Given the description of an element on the screen output the (x, y) to click on. 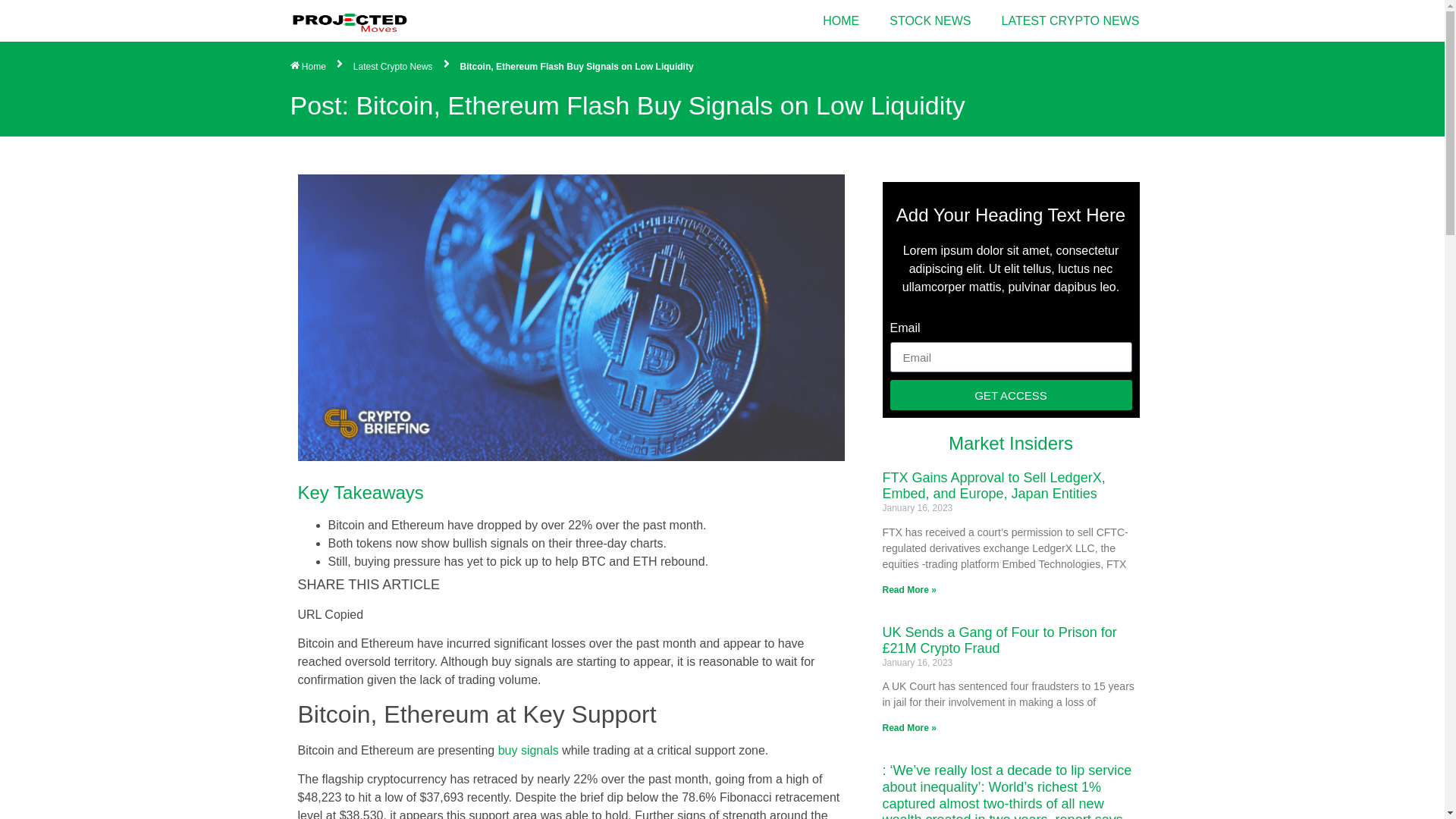
buy signals (528, 749)
Home (306, 66)
HOME (841, 20)
LATEST CRYPTO NEWS (1070, 20)
Home (306, 66)
Latest Crypto News (392, 66)
GET ACCESS (1010, 395)
STOCK NEWS (930, 20)
Bitcoin, Ethereum Flash Buy Signals on Low Liquidity (577, 66)
